Given the description of an element on the screen output the (x, y) to click on. 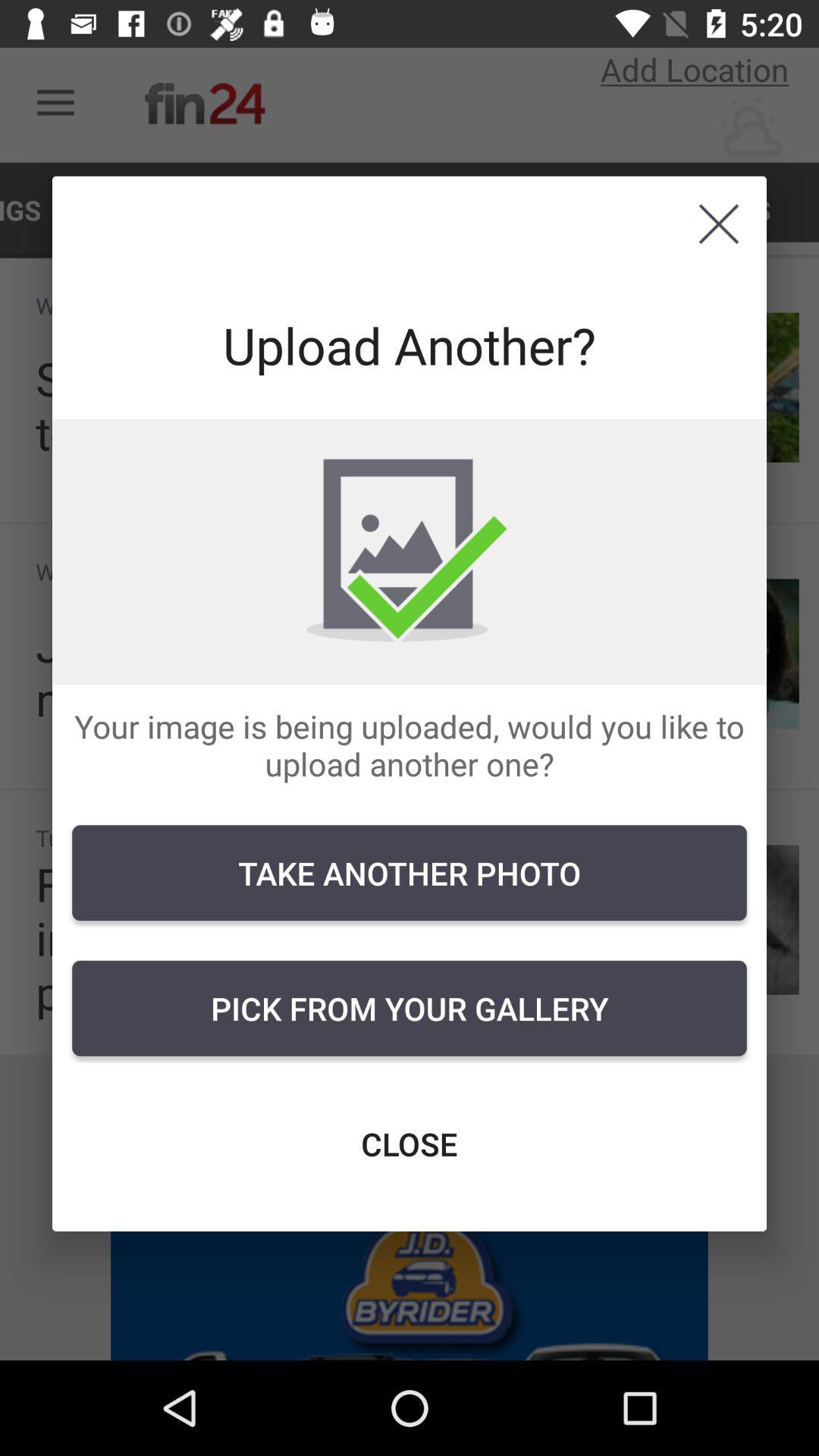
close function (718, 223)
